Given the description of an element on the screen output the (x, y) to click on. 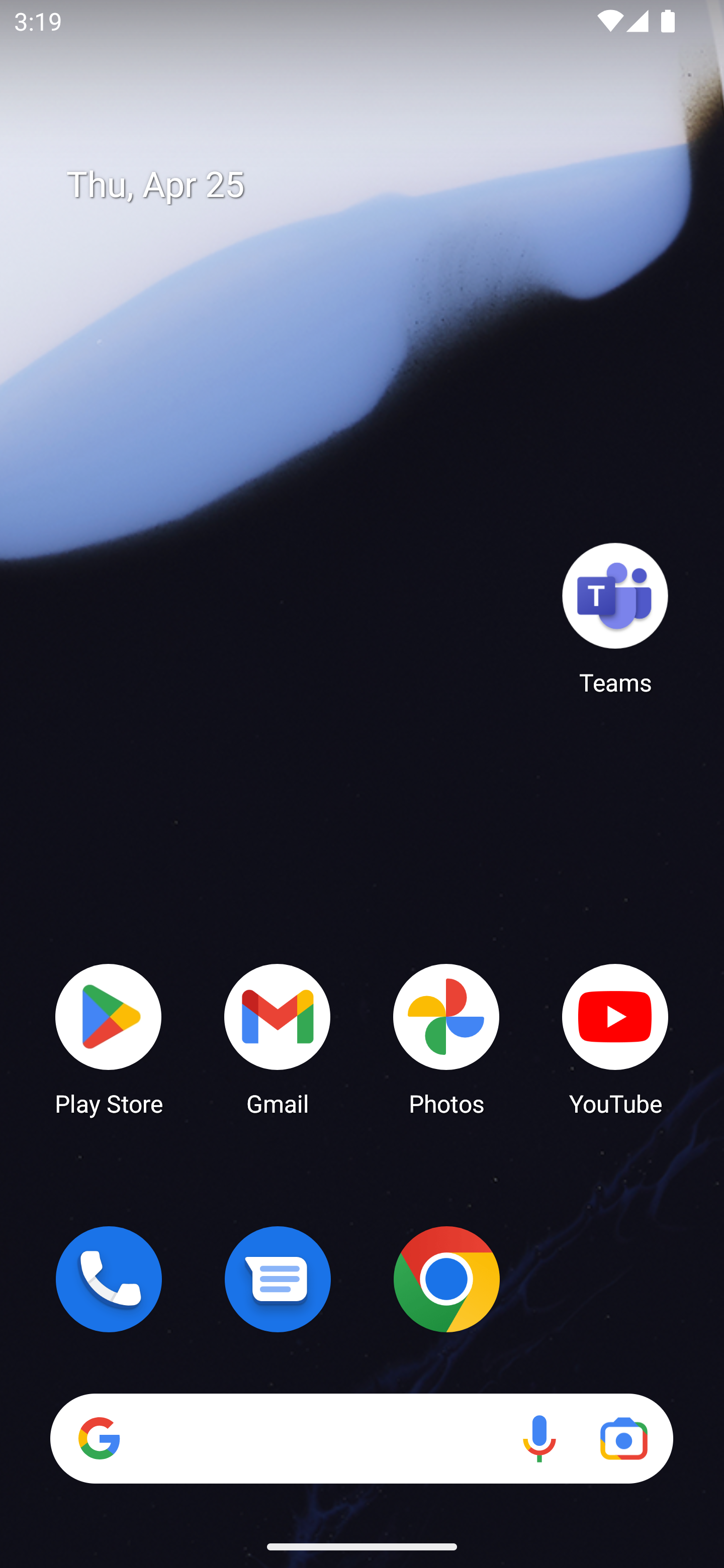
Thu, Apr 25 (375, 184)
Teams (615, 617)
Play Store (108, 1038)
Gmail (277, 1038)
Photos (445, 1038)
YouTube (615, 1038)
Phone (108, 1279)
Messages (277, 1279)
Chrome (446, 1279)
Search Voice search Google Lens (361, 1438)
Voice search (539, 1438)
Google Lens (623, 1438)
